Given the description of an element on the screen output the (x, y) to click on. 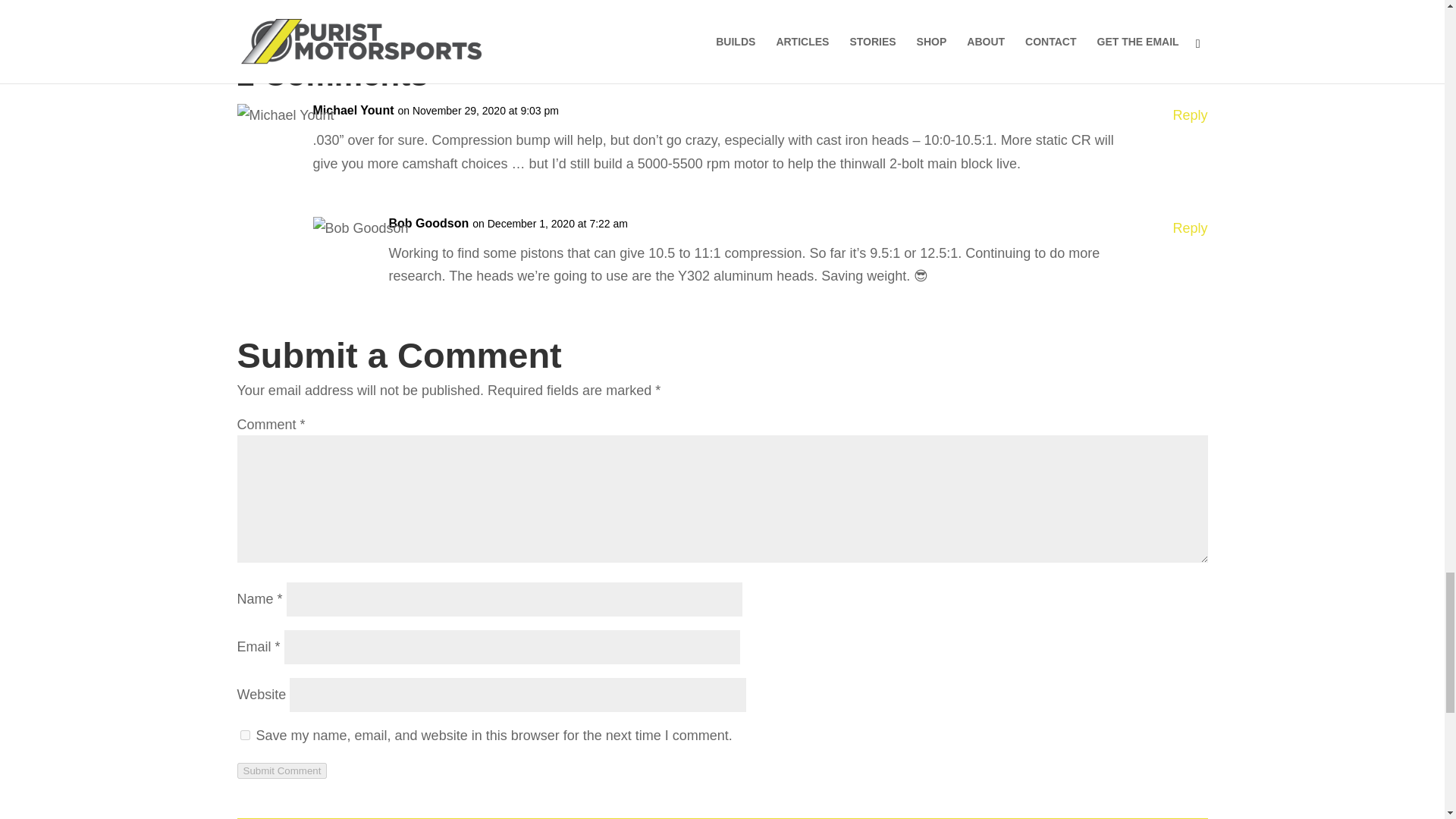
Submit Comment (280, 770)
yes (244, 735)
Reply (1189, 228)
Reply (1189, 115)
